Given the description of an element on the screen output the (x, y) to click on. 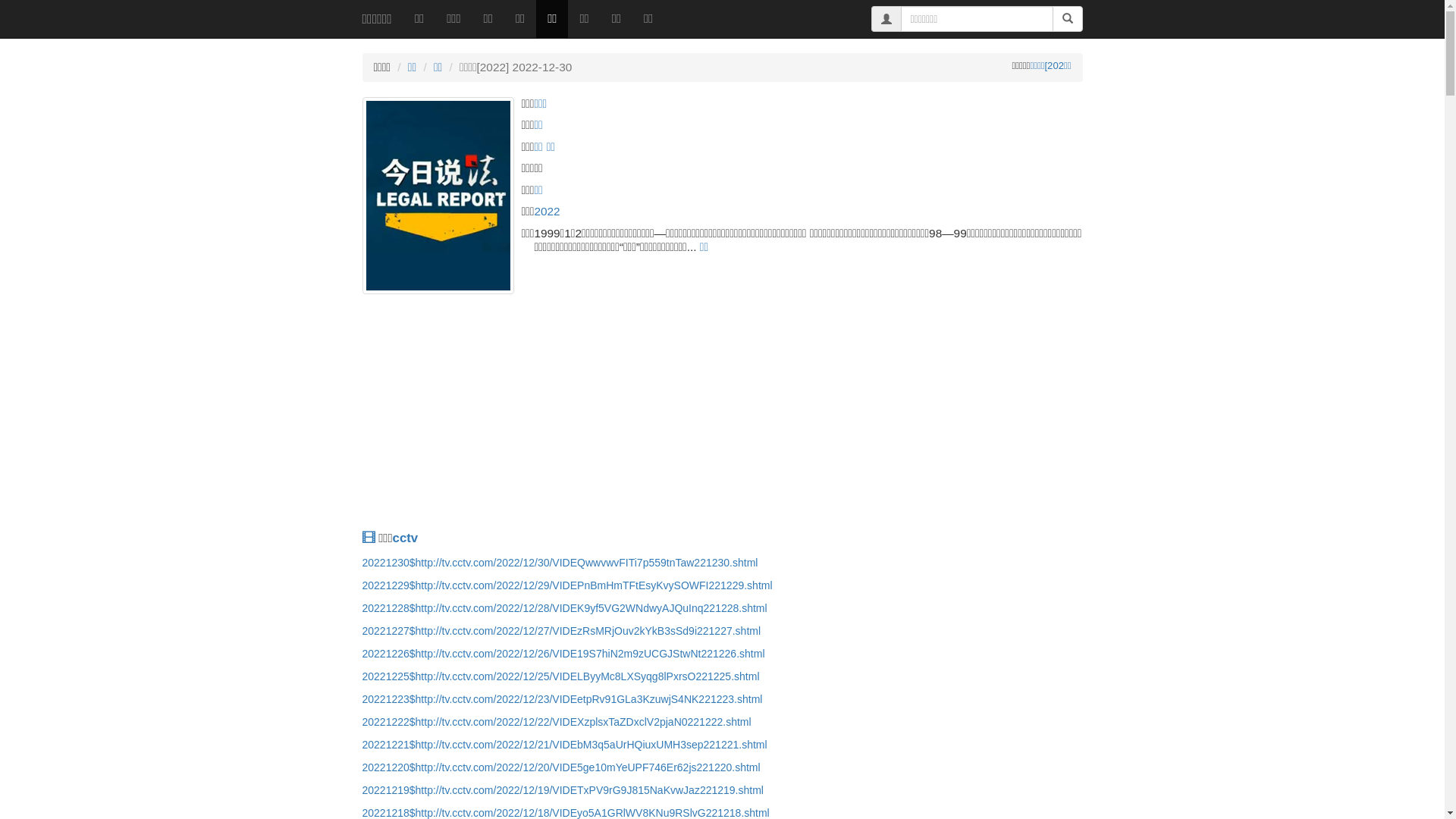
2022 Element type: text (546, 210)
